Given the description of an element on the screen output the (x, y) to click on. 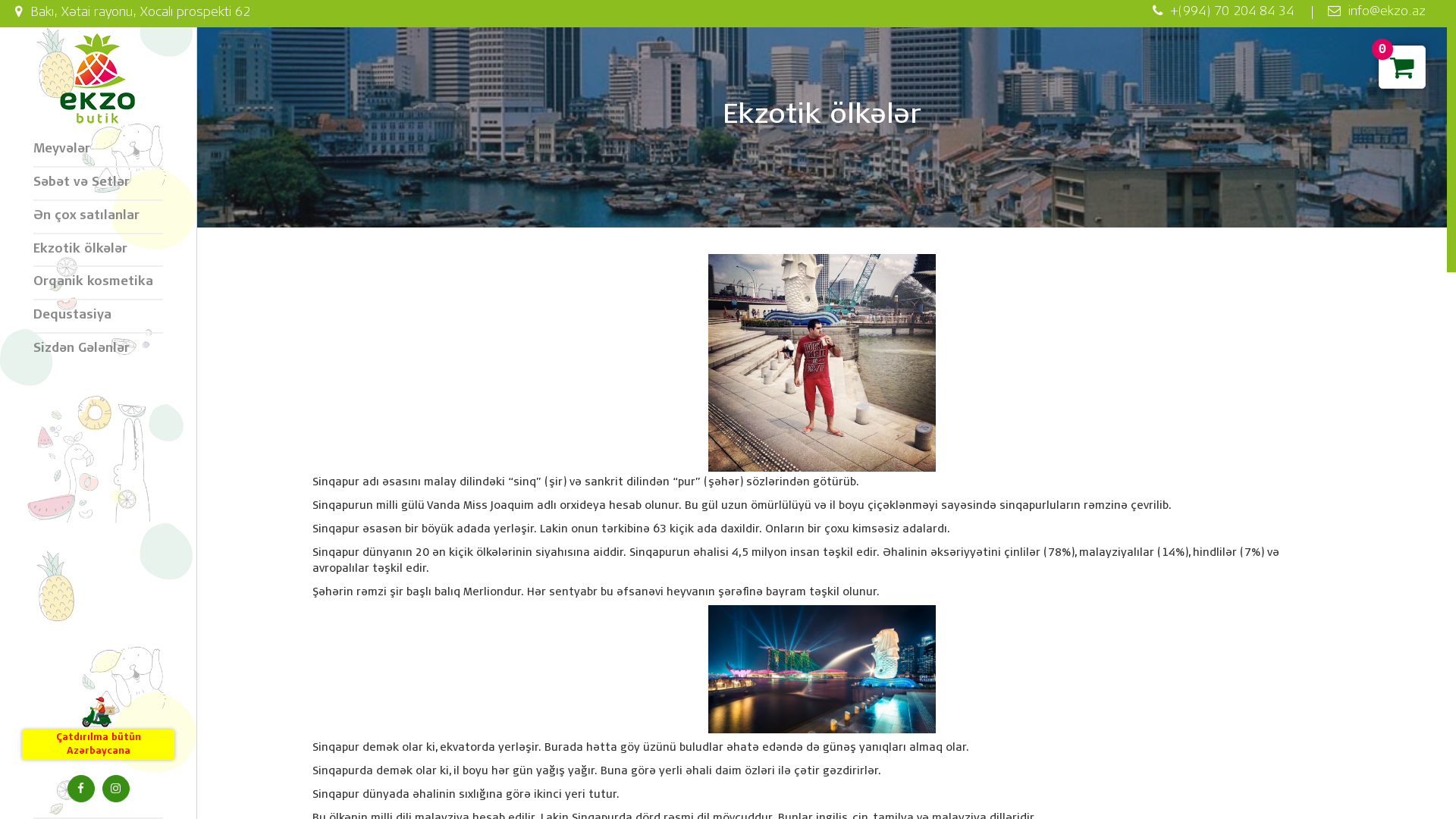
Dequstasiya Element type: text (98, 316)
instagram Element type: hover (114, 788)
+(994) 70 204 84 34 Element type: text (1222, 12)
info@ekzo.az Element type: text (1375, 12)
EkzoButik Element type: hover (98, 78)
facebook Element type: hover (80, 788)
Orqanik kosmetika Element type: text (98, 283)
